Given the description of an element on the screen output the (x, y) to click on. 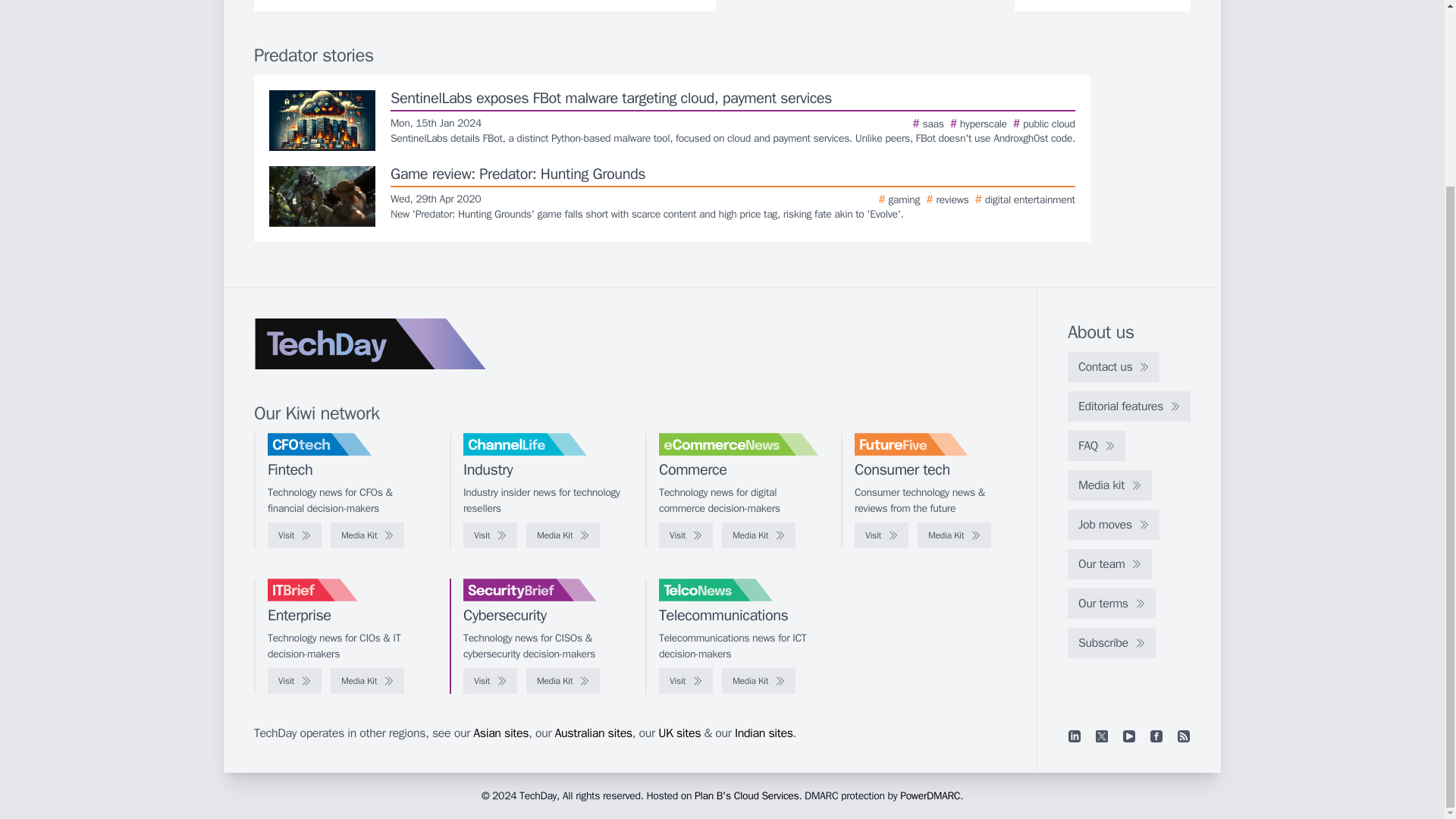
Media Kit (954, 534)
Visit (686, 534)
Visit (294, 680)
Visit (881, 534)
Visit (489, 534)
Media Kit (367, 534)
Media Kit (758, 534)
Media Kit (367, 680)
Media Kit (562, 680)
UK sites (679, 733)
